Given the description of an element on the screen output the (x, y) to click on. 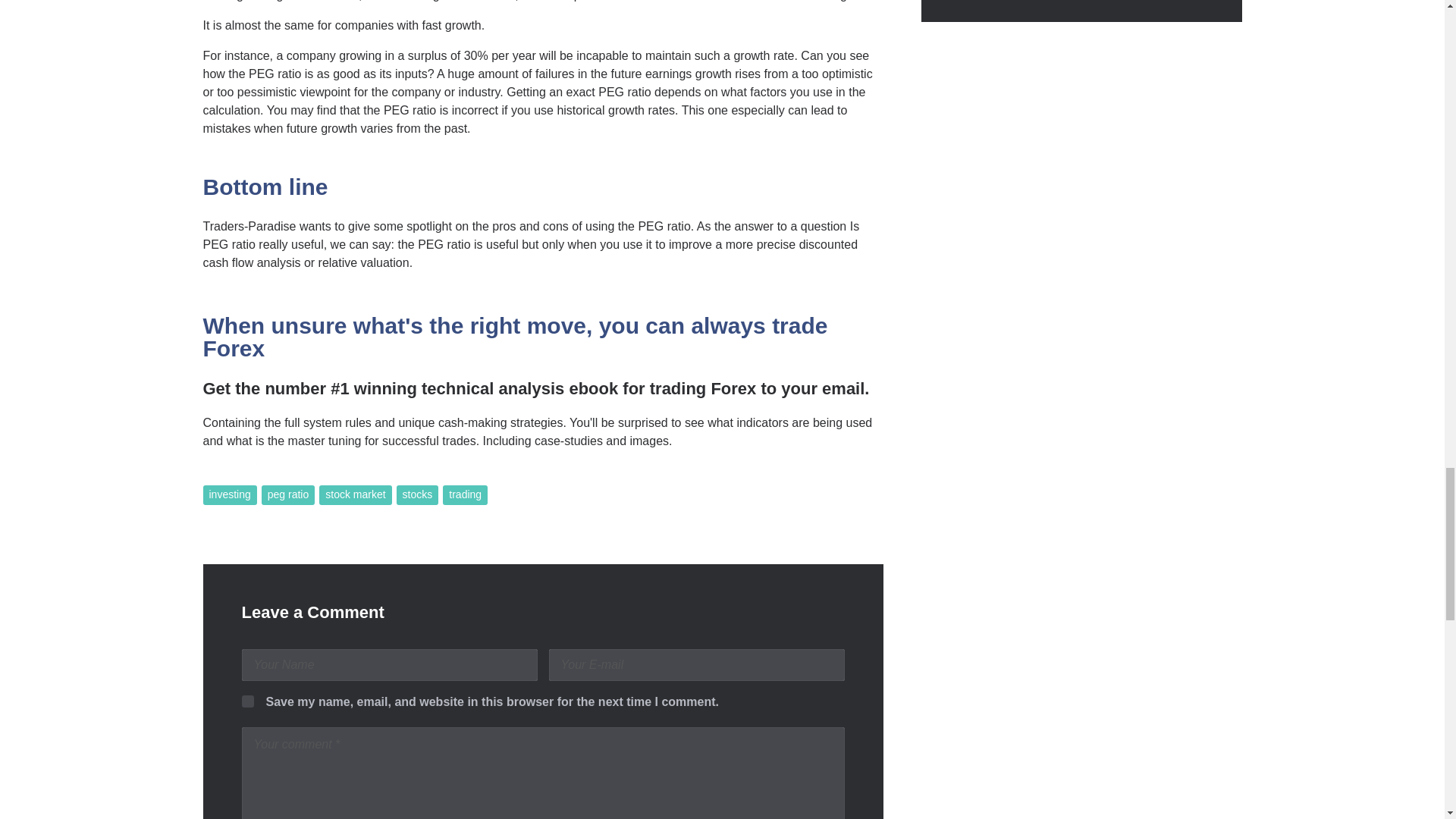
stock market (354, 495)
peg ratio (288, 495)
investing (230, 495)
